Given the description of an element on the screen output the (x, y) to click on. 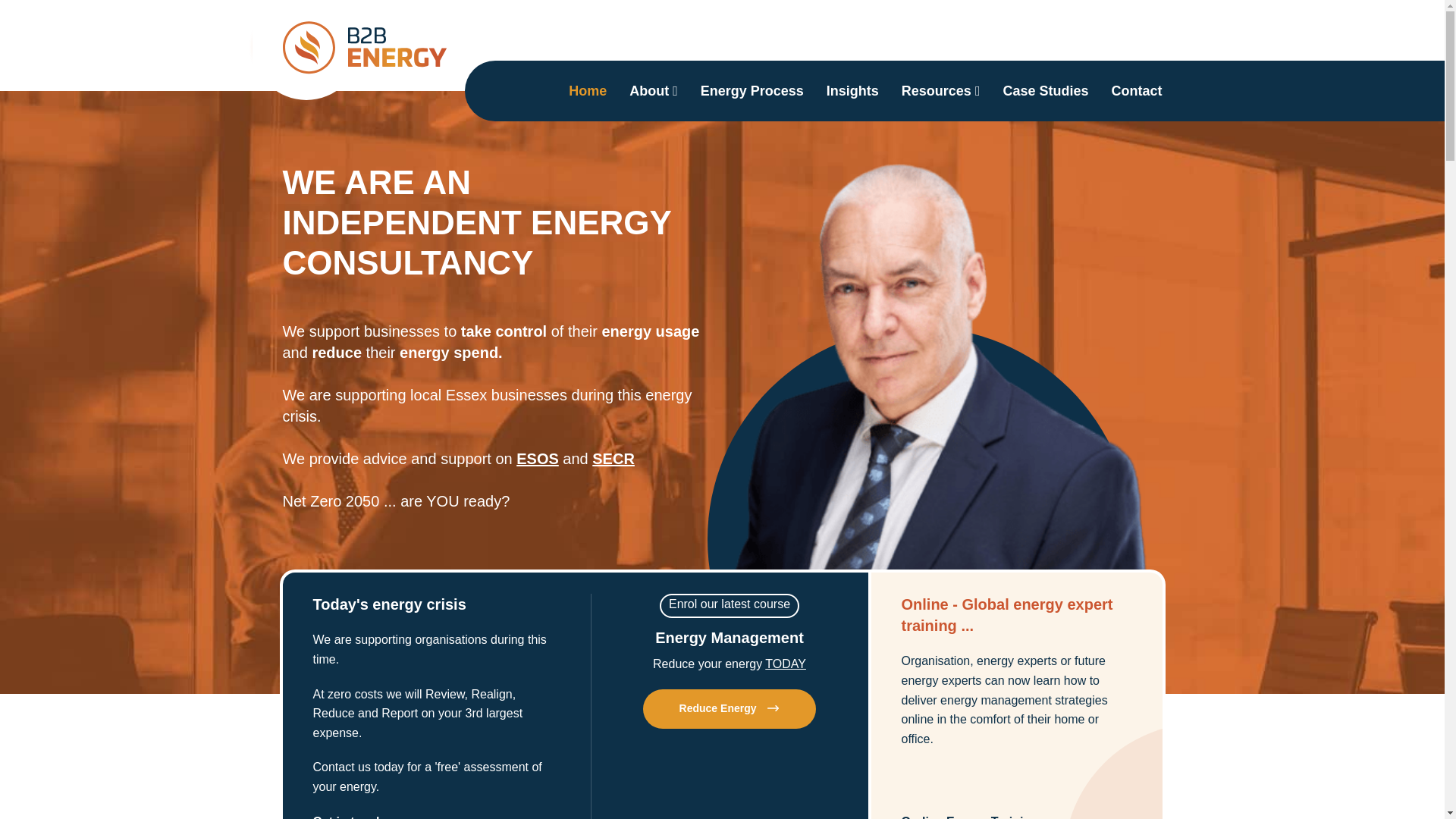
SECR (613, 458)
Energy Process (751, 90)
B2B Energy Ltd (365, 47)
Get in touch ... (354, 815)
On-line Energy Training (968, 816)
Energy Process (751, 90)
ESOS (537, 458)
Insights (852, 90)
Resources (940, 90)
Case Studies (1045, 90)
